Given the description of an element on the screen output the (x, y) to click on. 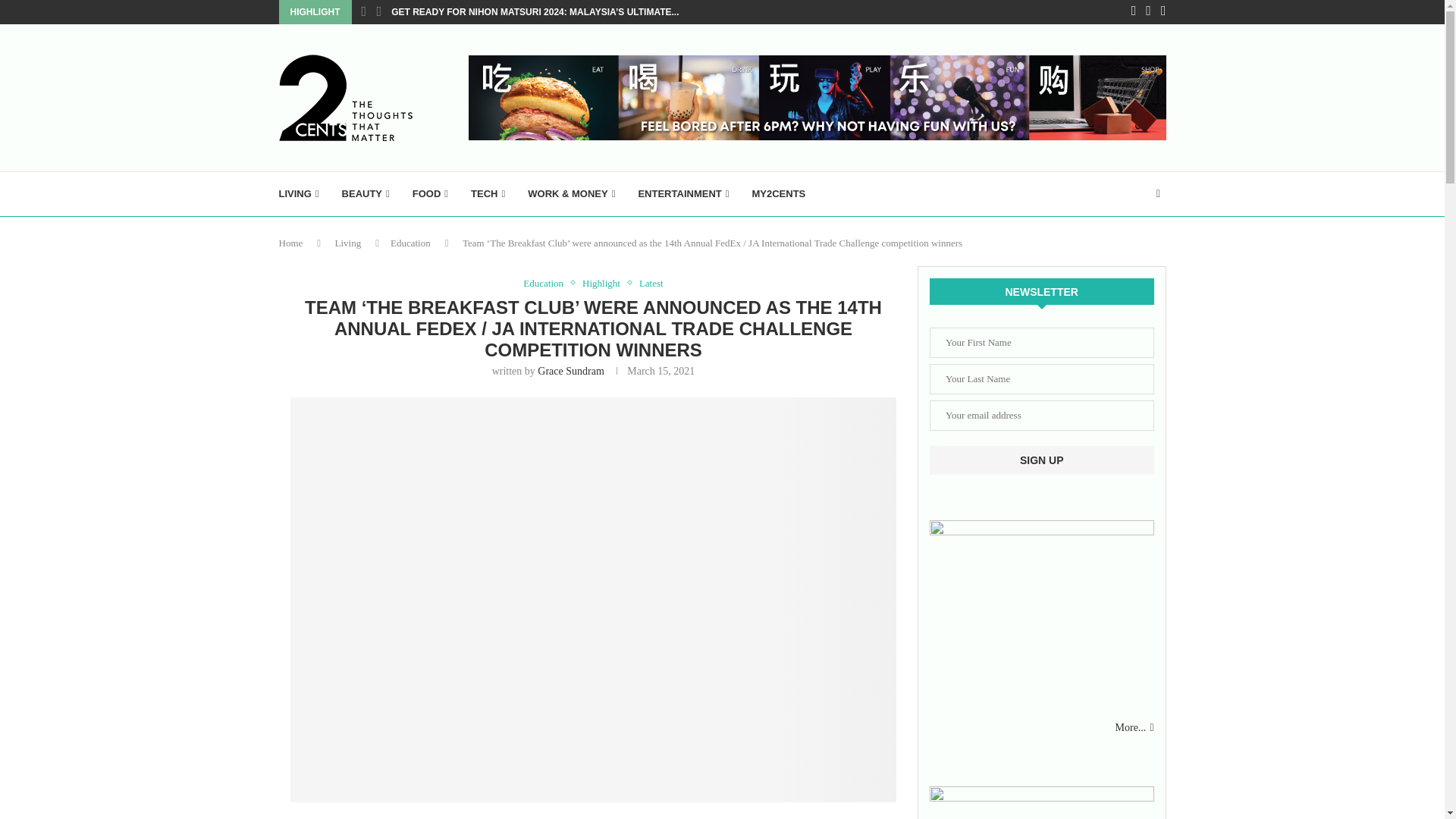
Sign up (1042, 460)
LIVING (298, 193)
